Given the description of an element on the screen output the (x, y) to click on. 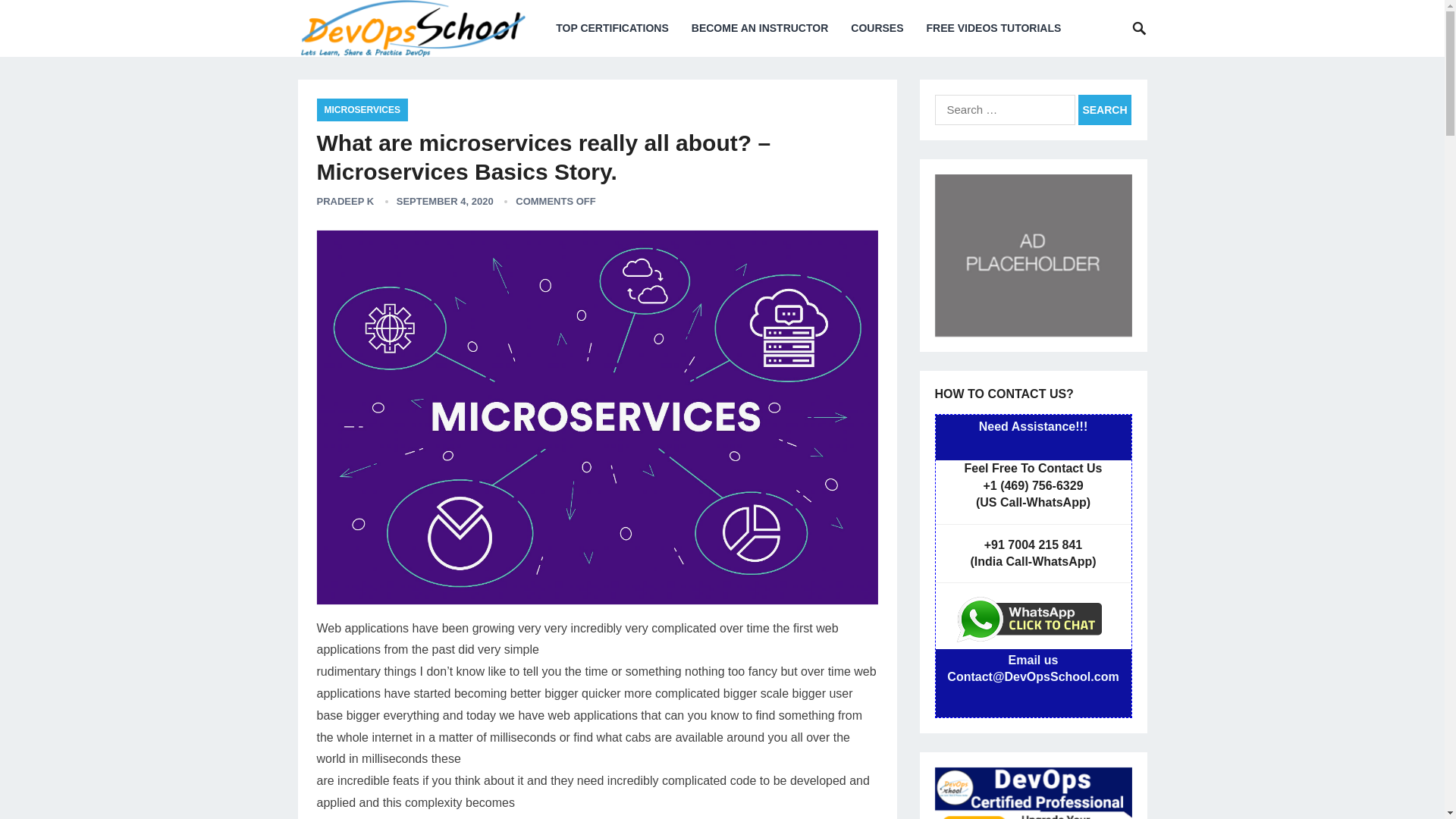
FREE VIDEOS TUTORIALS (992, 28)
MICROSERVICES (362, 109)
Search (1104, 110)
TOP CERTIFICATIONS (611, 28)
COURSES (877, 28)
Search (1104, 110)
PRADEEP K (345, 201)
Posts by Pradeep K (345, 201)
View all posts in Microservices (362, 109)
Search (1104, 110)
BECOME AN INSTRUCTOR (759, 28)
